Given the description of an element on the screen output the (x, y) to click on. 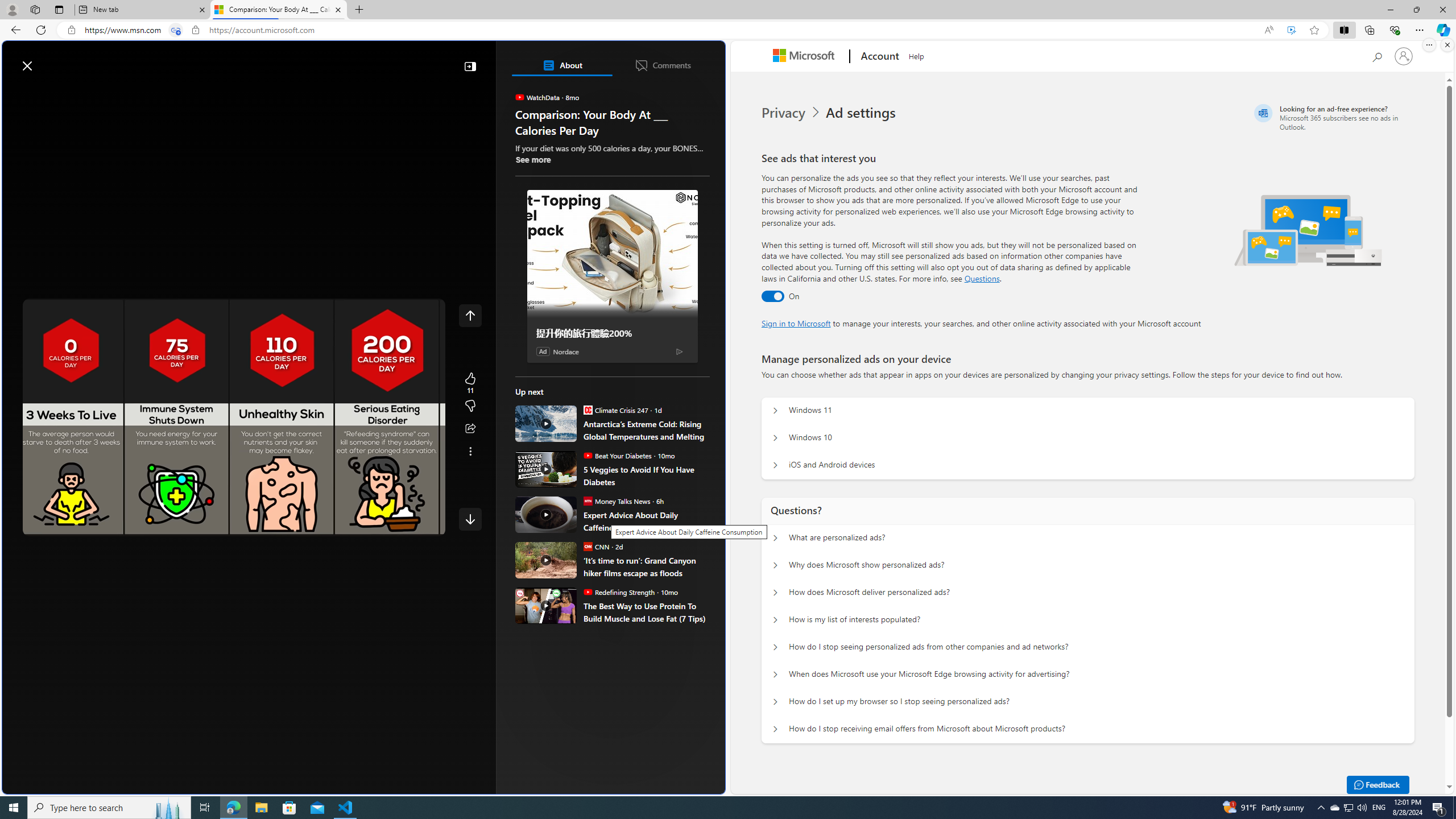
About (561, 64)
Beat Your Diabetes (587, 455)
Back (13, 29)
Workspaces (34, 9)
Questions? How is my list of interests populated? (775, 619)
Ad (542, 351)
Share this story (469, 428)
Split screen (1344, 29)
Questions? Why does Microsoft show personalized ads? (775, 565)
The Associated Press (554, 366)
Following (97, 92)
Add this page to favorites (Ctrl+D) (1314, 29)
Personalize (679, 92)
